Given the description of an element on the screen output the (x, y) to click on. 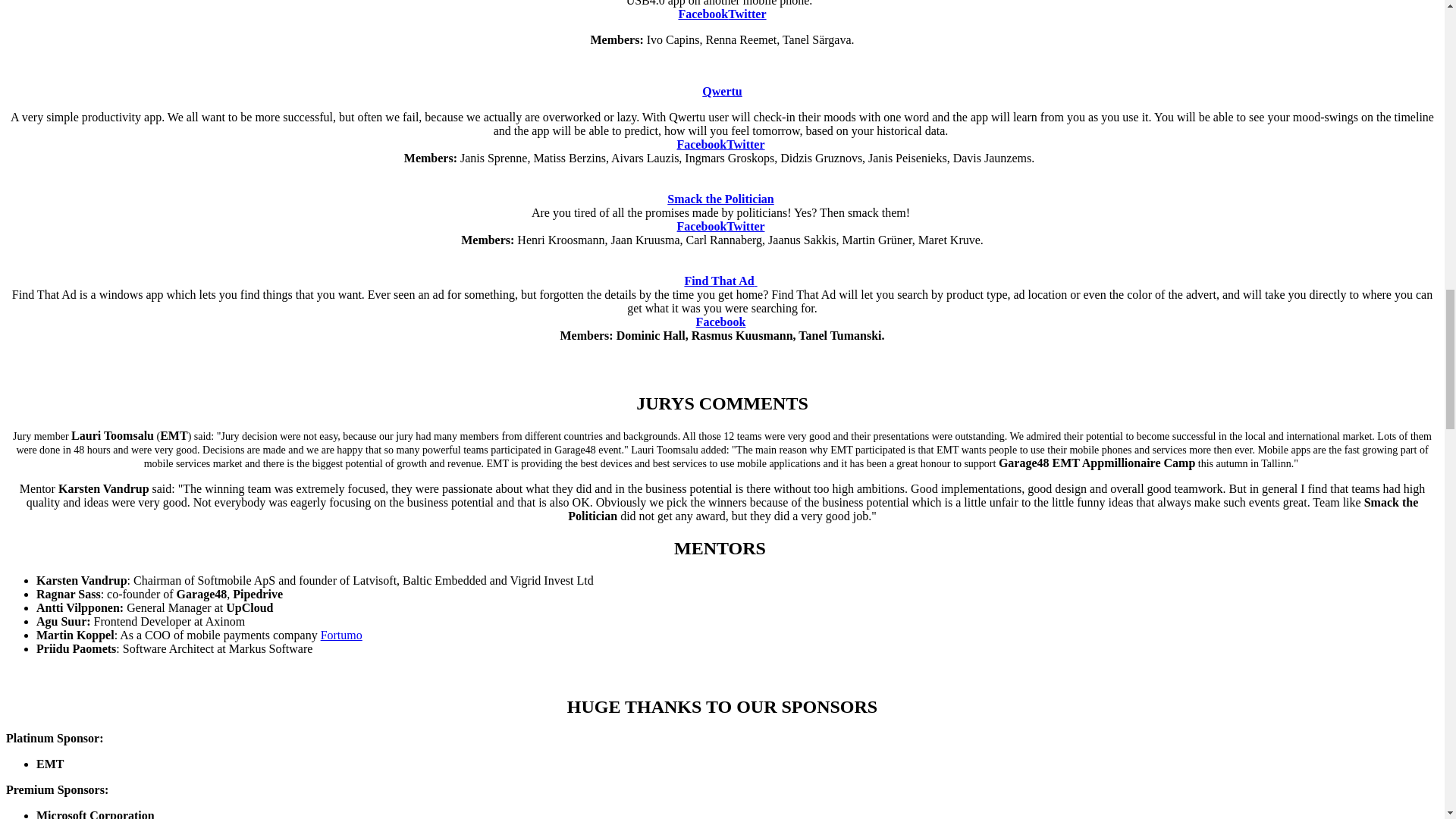
Facebook (703, 13)
Twitter (746, 13)
Qwertu (721, 91)
